Given the description of an element on the screen output the (x, y) to click on. 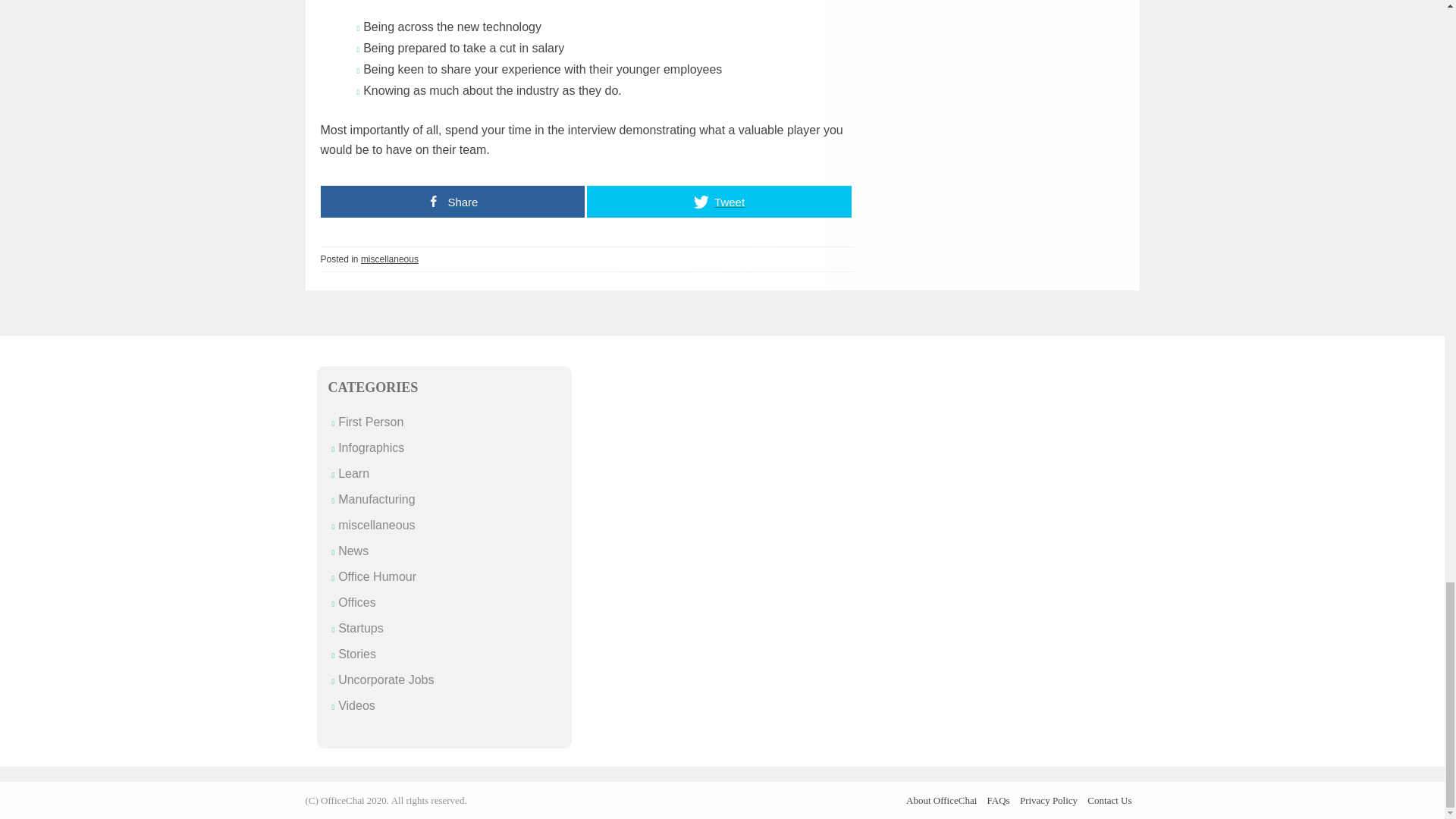
Infographics (370, 447)
Manufacturing (375, 499)
News (352, 550)
Tweet (718, 201)
Offices (356, 602)
miscellaneous (390, 258)
First Person (370, 421)
Share (452, 201)
miscellaneous (375, 524)
Startups (360, 627)
